Given the description of an element on the screen output the (x, y) to click on. 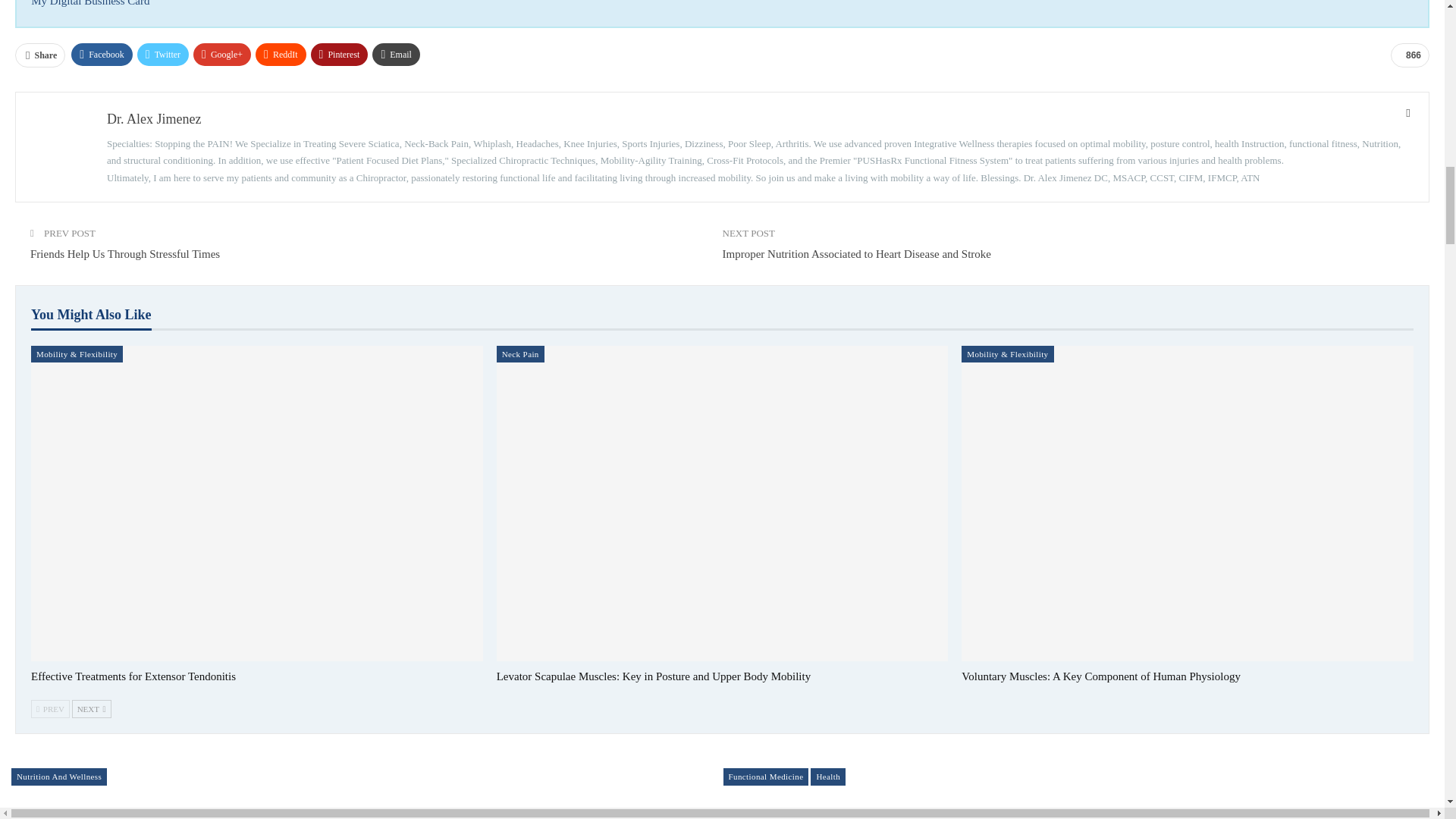
Previous (49, 709)
Effective Treatments for Extensor Tendonitis (132, 676)
Voluntary Muscles: A Key Component of Human Physiology (1100, 676)
Next (91, 709)
